Given the description of an element on the screen output the (x, y) to click on. 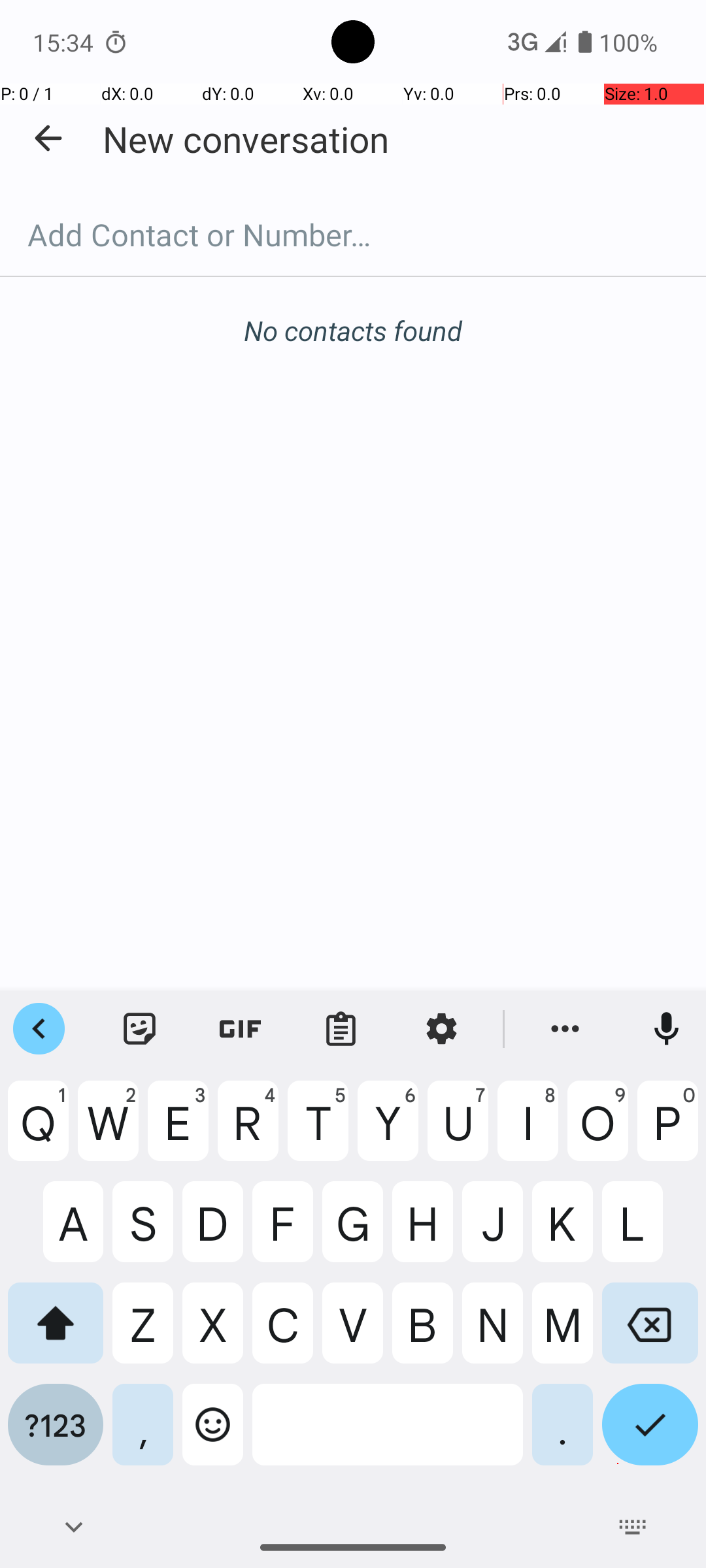
New conversation Element type: android.widget.TextView (245, 138)
Add Contact or Number… Element type: android.widget.EditText (352, 234)
No contacts found Element type: android.widget.TextView (353, 329)
